Given the description of an element on the screen output the (x, y) to click on. 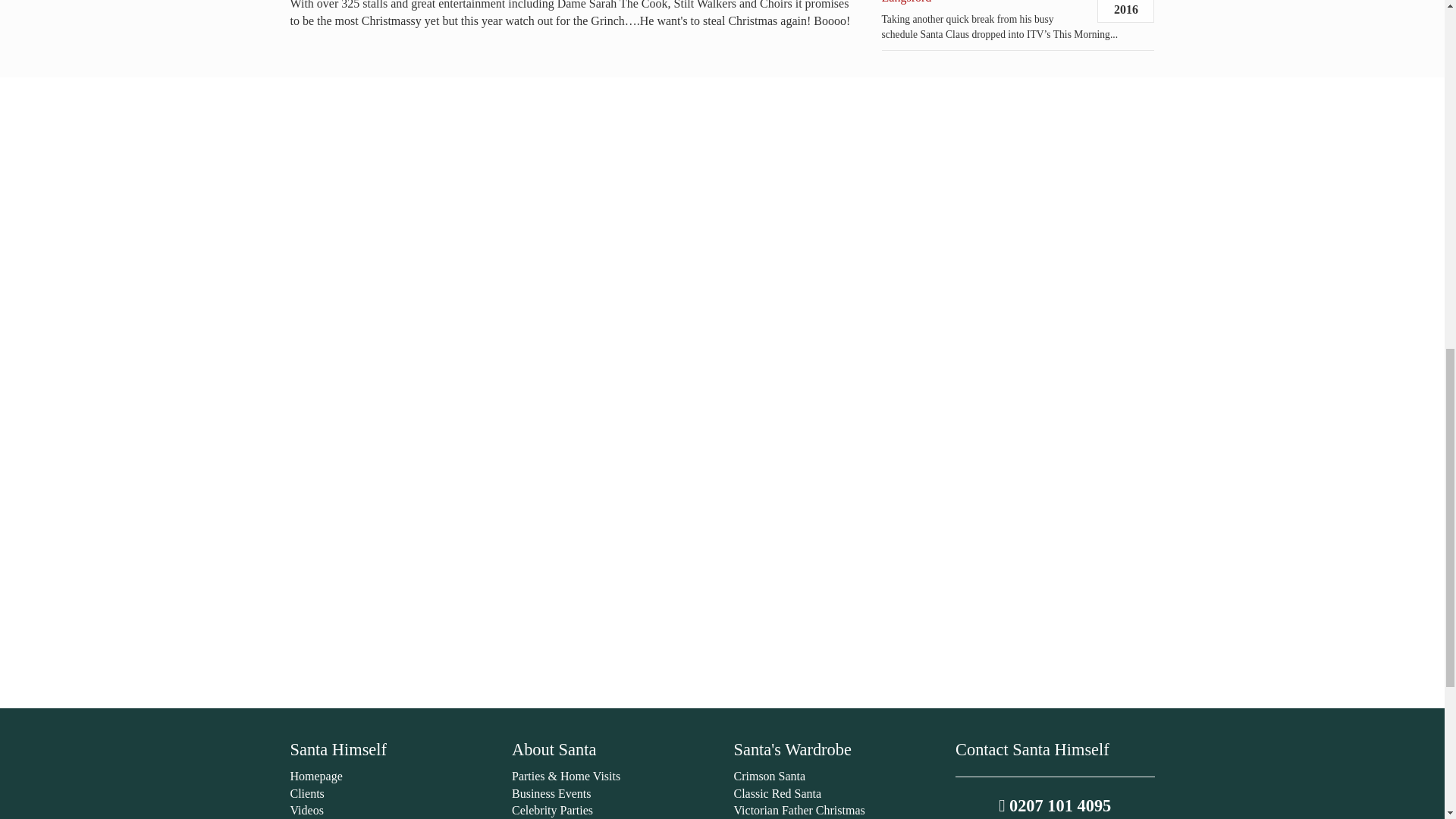
Good Morning Britain (722, 465)
This Morning (722, 223)
Ideal World TV (722, 611)
Strictly Come Dancing (722, 271)
BBC CBeebies (722, 174)
Michael McIntyre's Big Christmas Show (722, 417)
Pointless Christmas Celebrities (722, 513)
ITV Text Santa (722, 125)
The One Show (722, 562)
Judge Rinder (722, 368)
The Wright Stuff (722, 659)
Create and Craft TV (722, 319)
